Given the description of an element on the screen output the (x, y) to click on. 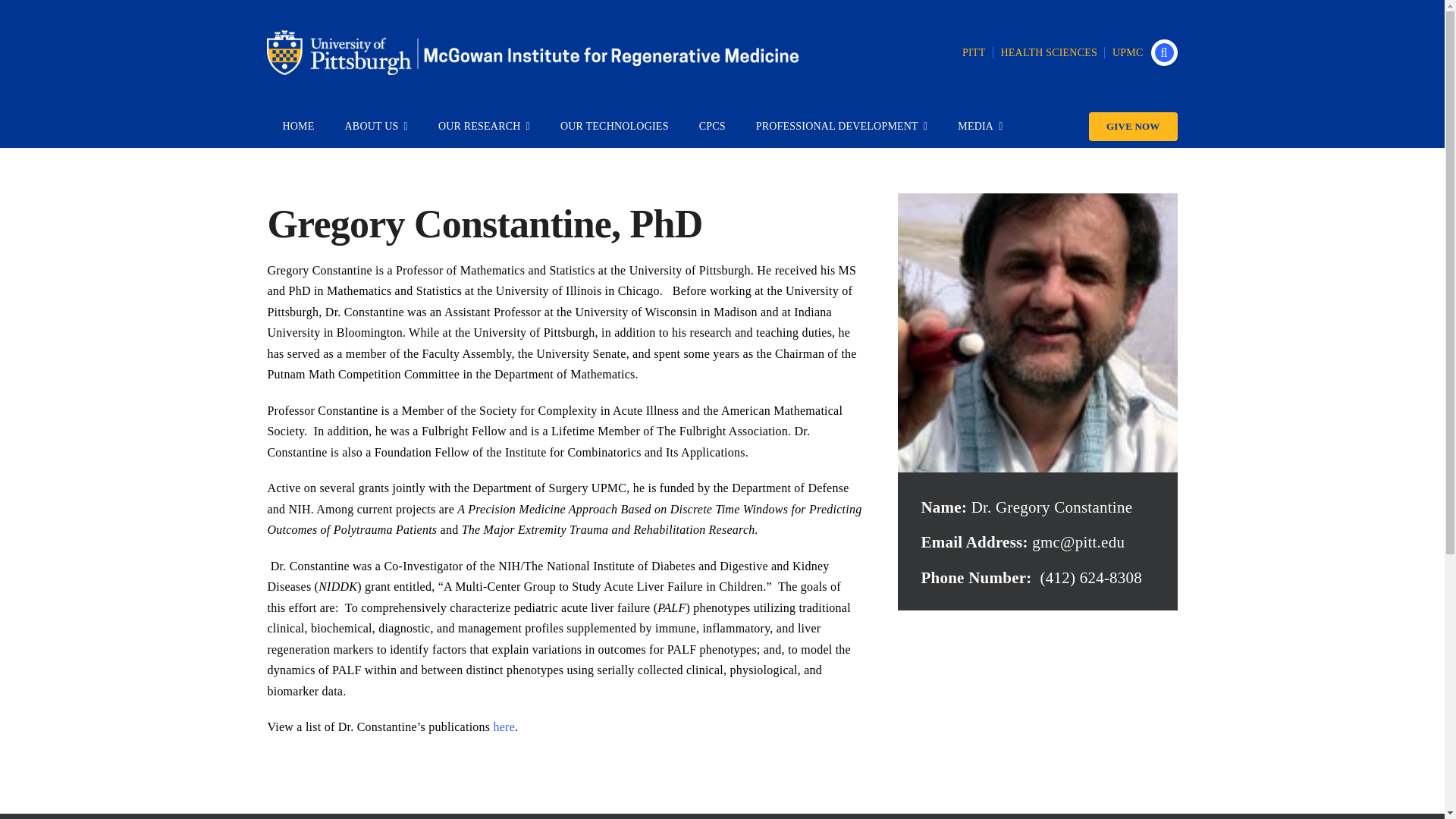
CPCS (712, 126)
PITT (973, 52)
PROFESSIONAL DEVELOPMENT (841, 126)
HOME (297, 126)
Search (1164, 52)
OUR RESEARCH (483, 126)
ABOUT US (376, 126)
HEALTH SCIENCES (1048, 52)
Constantine21 (1037, 332)
OUR TECHNOLOGIES (614, 126)
